Given the description of an element on the screen output the (x, y) to click on. 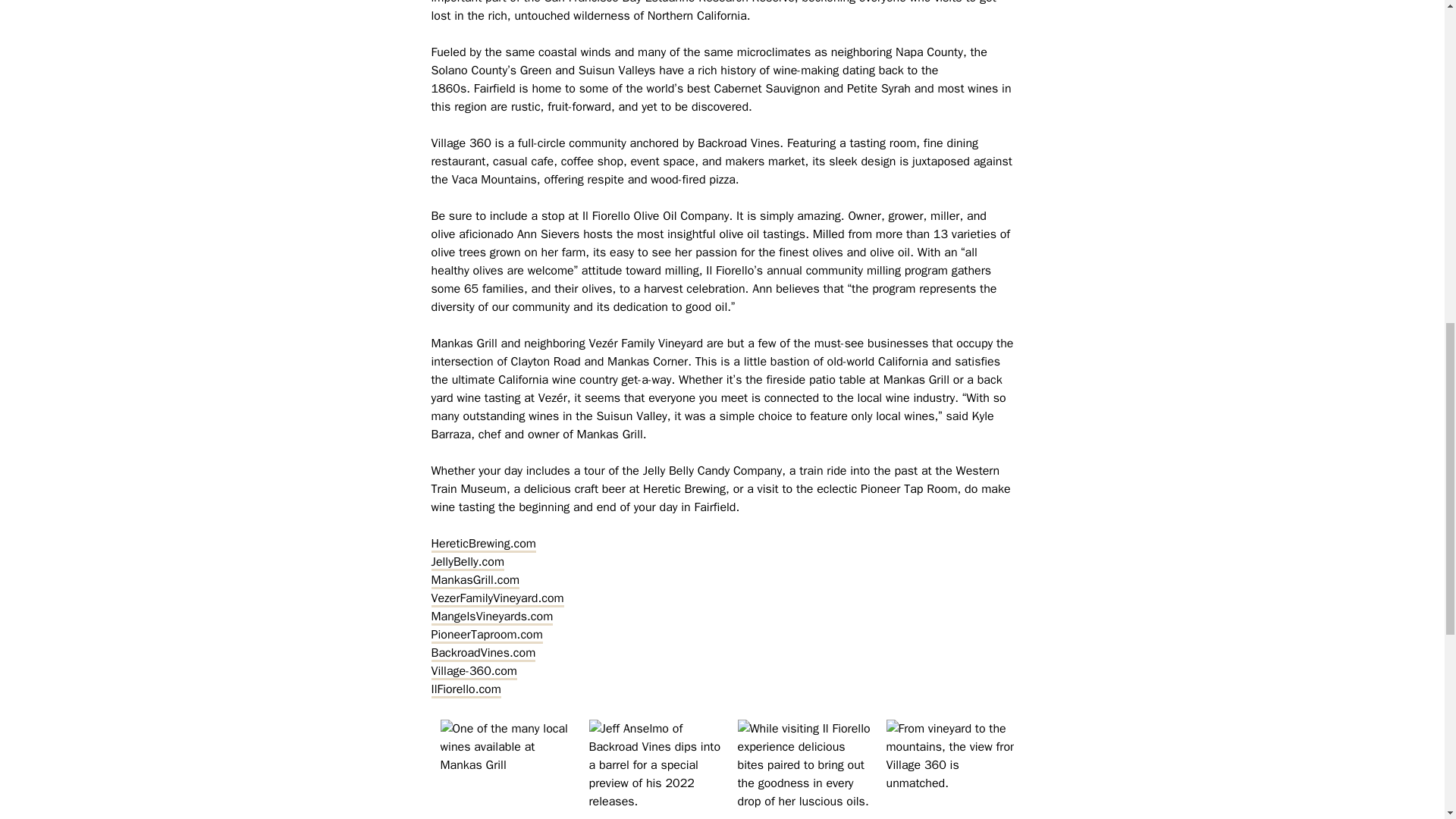
VezerFamilyVineyard.com (496, 597)
Village-360.com (473, 670)
PioneerTaproom.com (485, 634)
MankasGrill.com (474, 579)
BackroadVines.com (482, 652)
JellyBelly.com (466, 561)
MangelsVineyards.com (491, 616)
HereticBrewing.com (482, 543)
IlFiorello.com (465, 689)
